Given the description of an element on the screen output the (x, y) to click on. 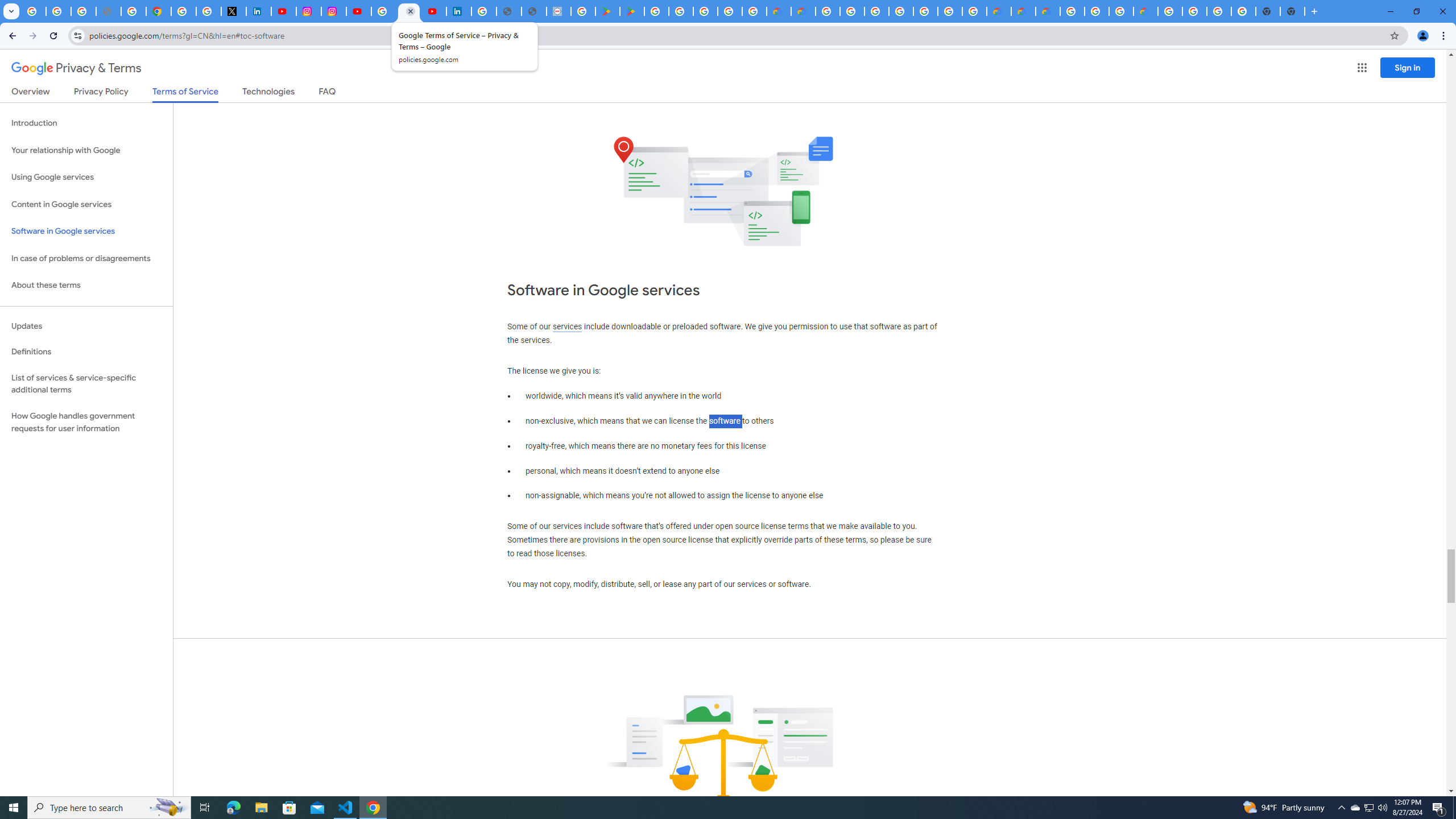
Sign in - Google Accounts (876, 11)
Sign in - Google Accounts (182, 11)
Privacy Help Center - Policies Help (133, 11)
Content in Google services (86, 204)
